Given the description of an element on the screen output the (x, y) to click on. 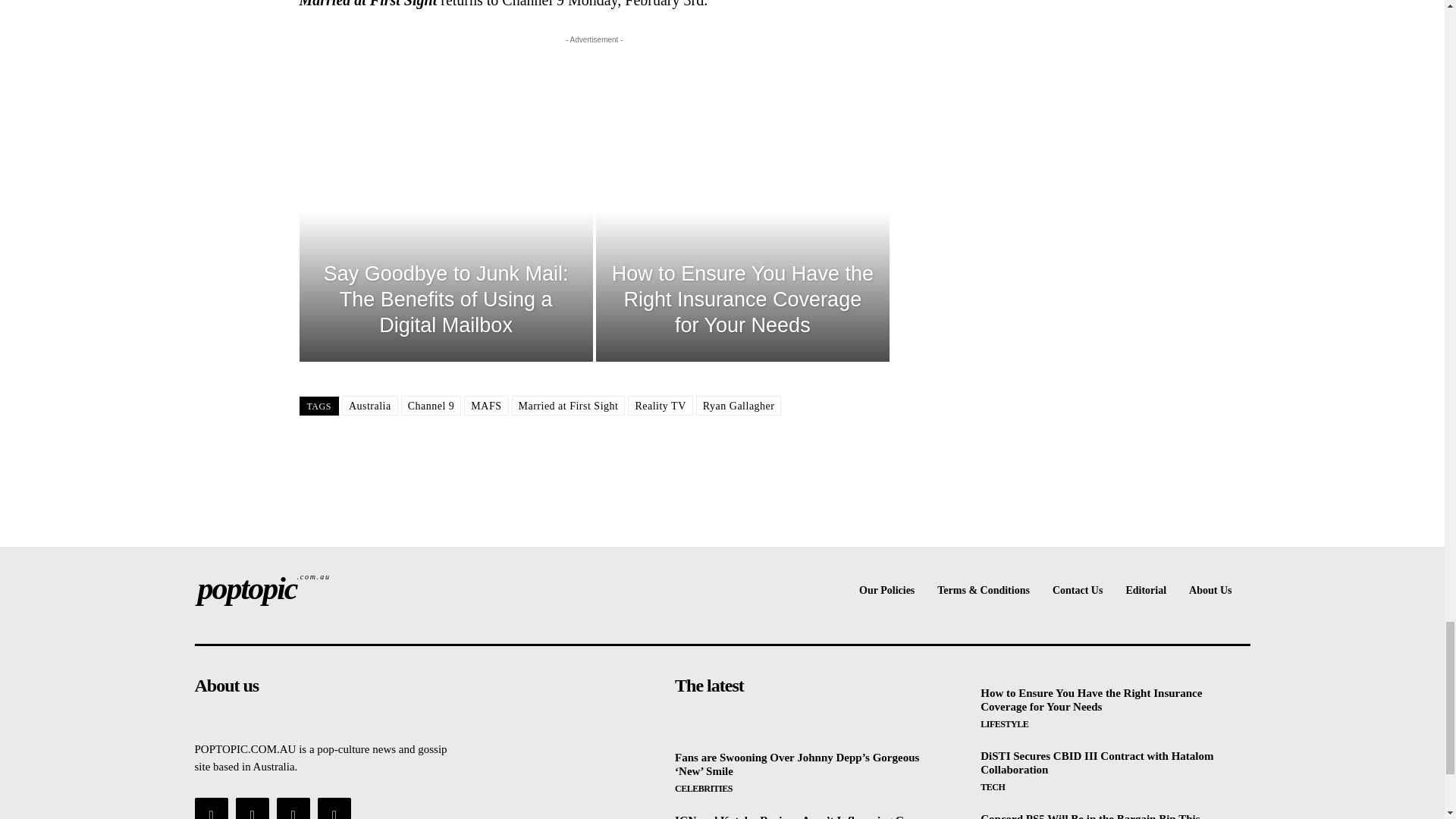
Instagram (252, 808)
Australia (369, 405)
Married at First Sight (567, 405)
Twitter (293, 808)
POPTOPIC (317, 588)
Channel 9 (317, 588)
Reality TV (431, 405)
